Given the description of an element on the screen output the (x, y) to click on. 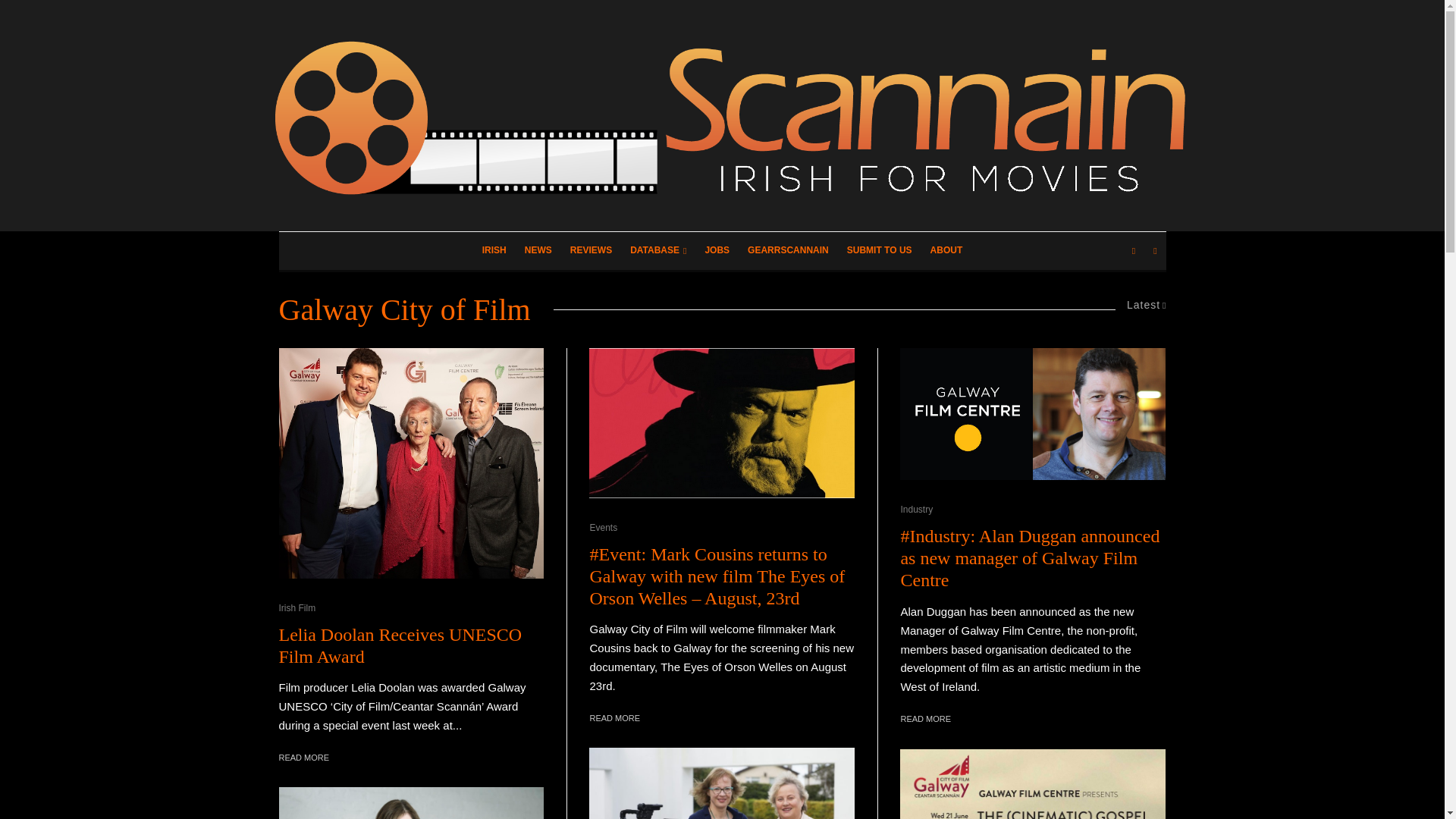
178Film Centre 30 years (411, 462)
REVIEWS (590, 250)
DATABASE (658, 250)
IRISH (494, 250)
NEWS (537, 250)
